Given the description of an element on the screen output the (x, y) to click on. 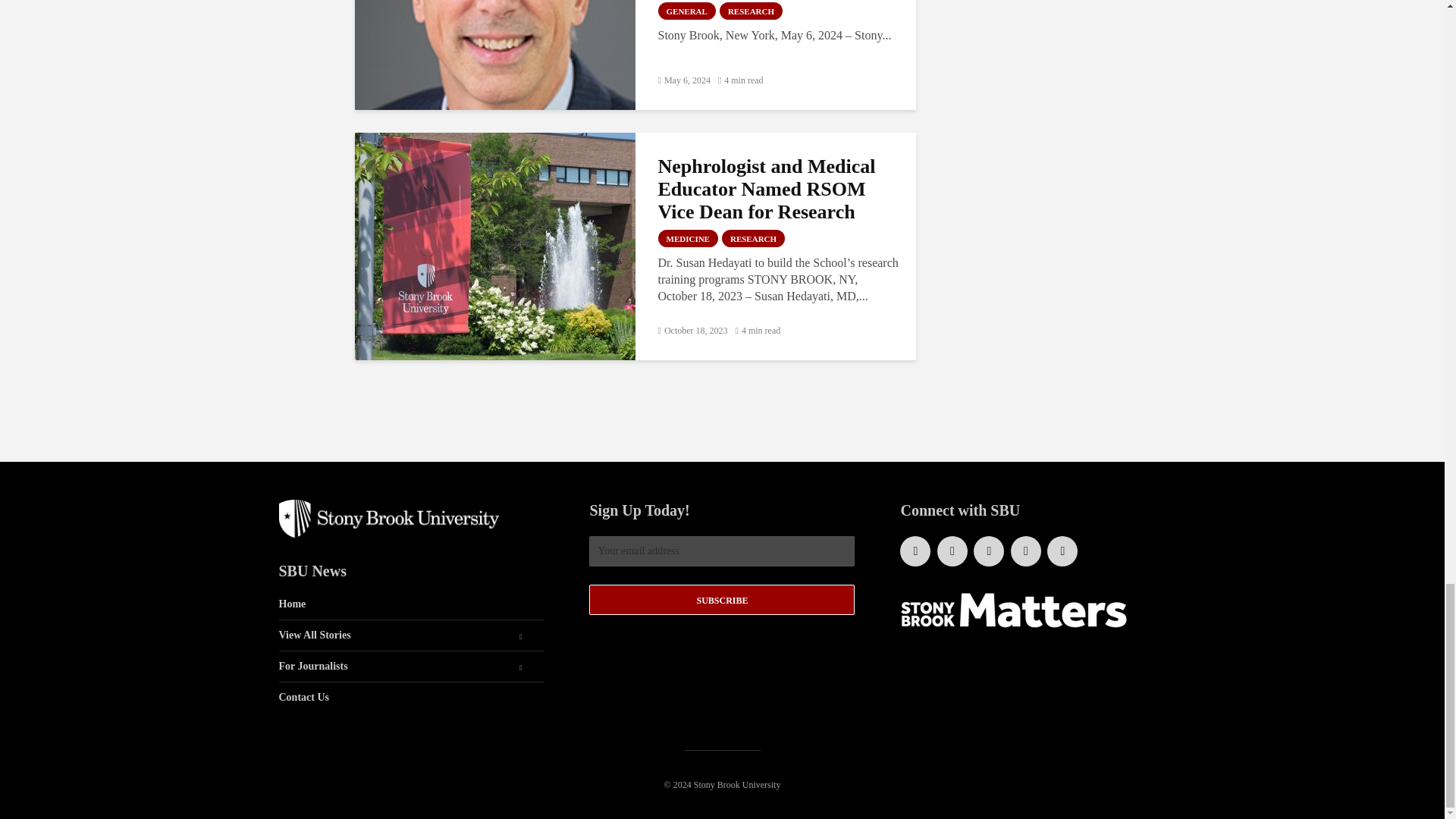
Subscribe (721, 599)
